Given the description of an element on the screen output the (x, y) to click on. 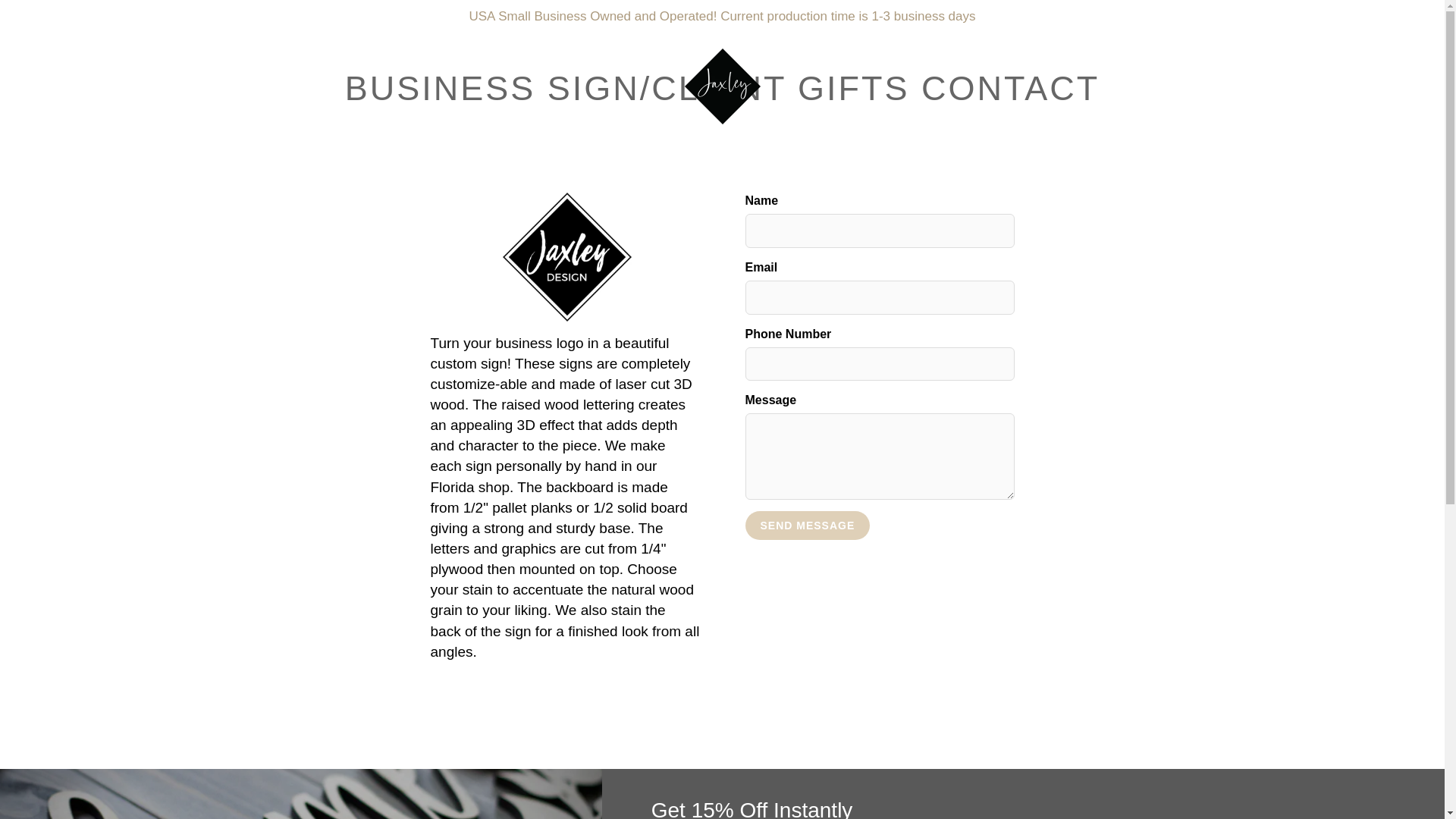
OUR STORY (837, 158)
OCCASION (561, 158)
My account (1379, 59)
Search (28, 59)
DOORMATS (699, 158)
You have 0 items in your cart (1417, 59)
CONTACT US (979, 158)
SHOP (441, 158)
